Given the description of an element on the screen output the (x, y) to click on. 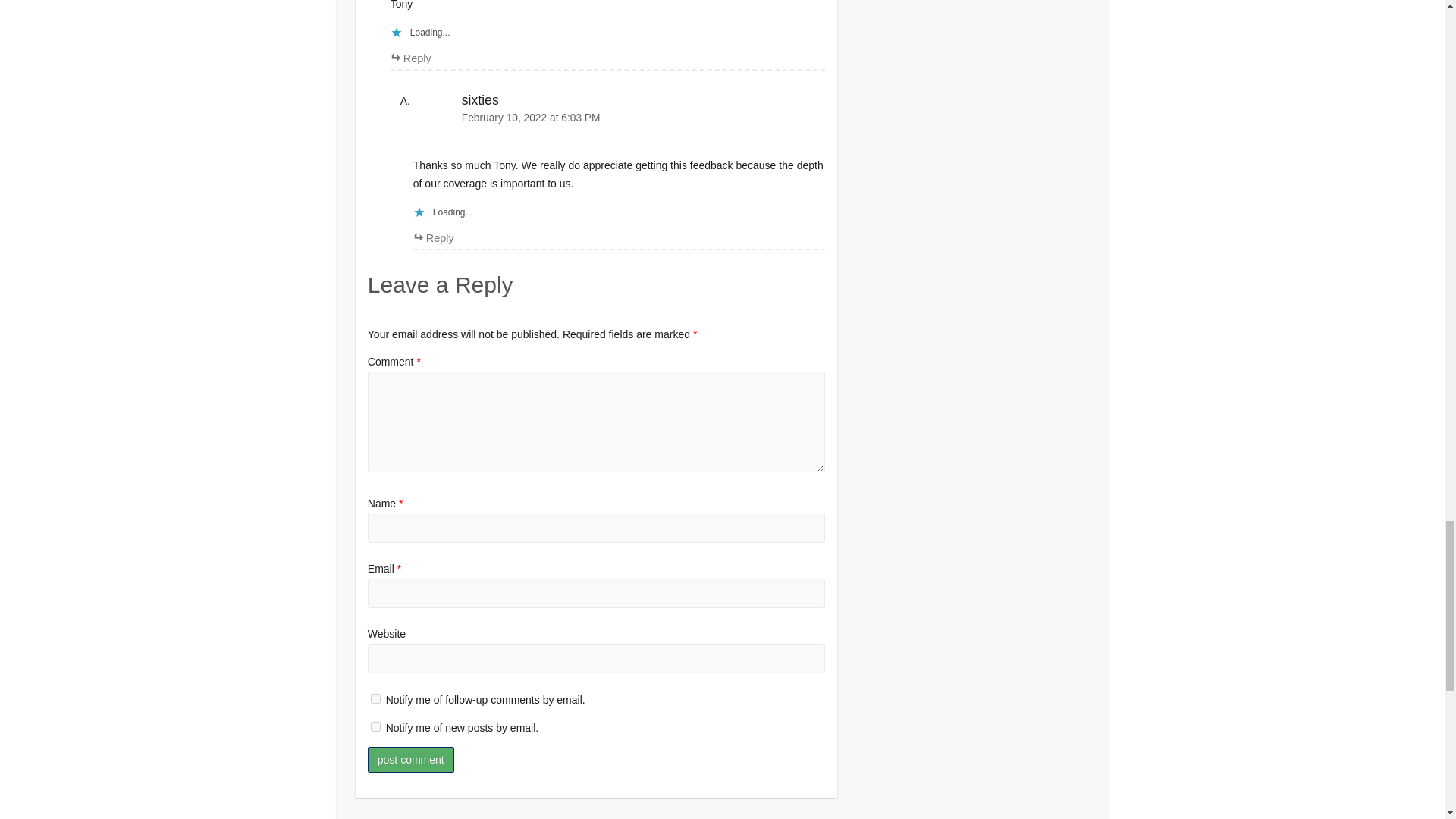
Post Comment (411, 759)
subscribe (375, 698)
subscribe (375, 726)
